Given the description of an element on the screen output the (x, y) to click on. 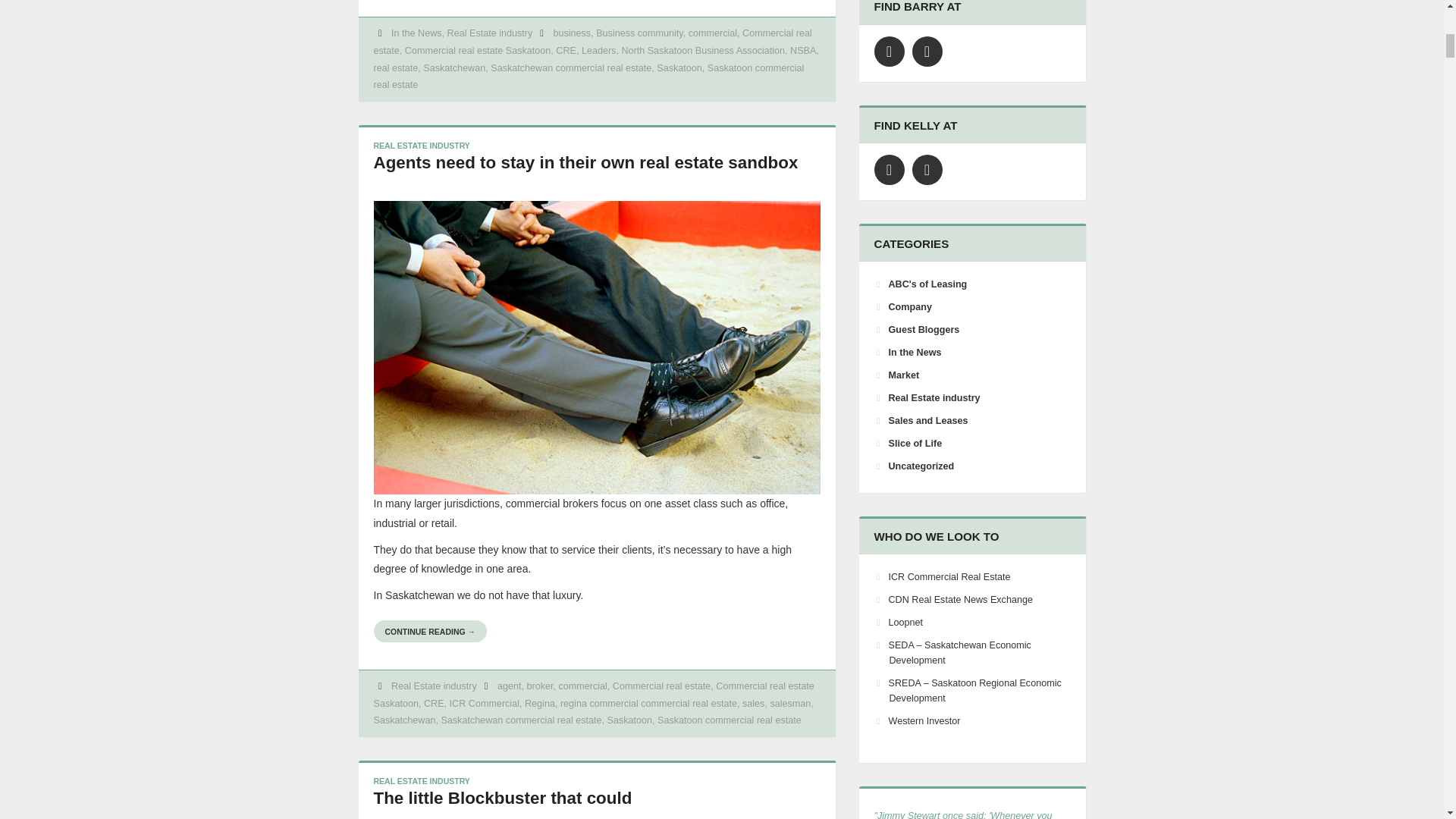
real estate (394, 68)
Real Estate industry (489, 32)
NSBA (802, 50)
Saskatchewan (453, 68)
Saskatchewan commercial real estate (570, 68)
In the News (416, 32)
business (572, 32)
Agents need to stay in their own real estate sandbox (584, 162)
commercial (712, 32)
Saskatoon (678, 68)
